Given the description of an element on the screen output the (x, y) to click on. 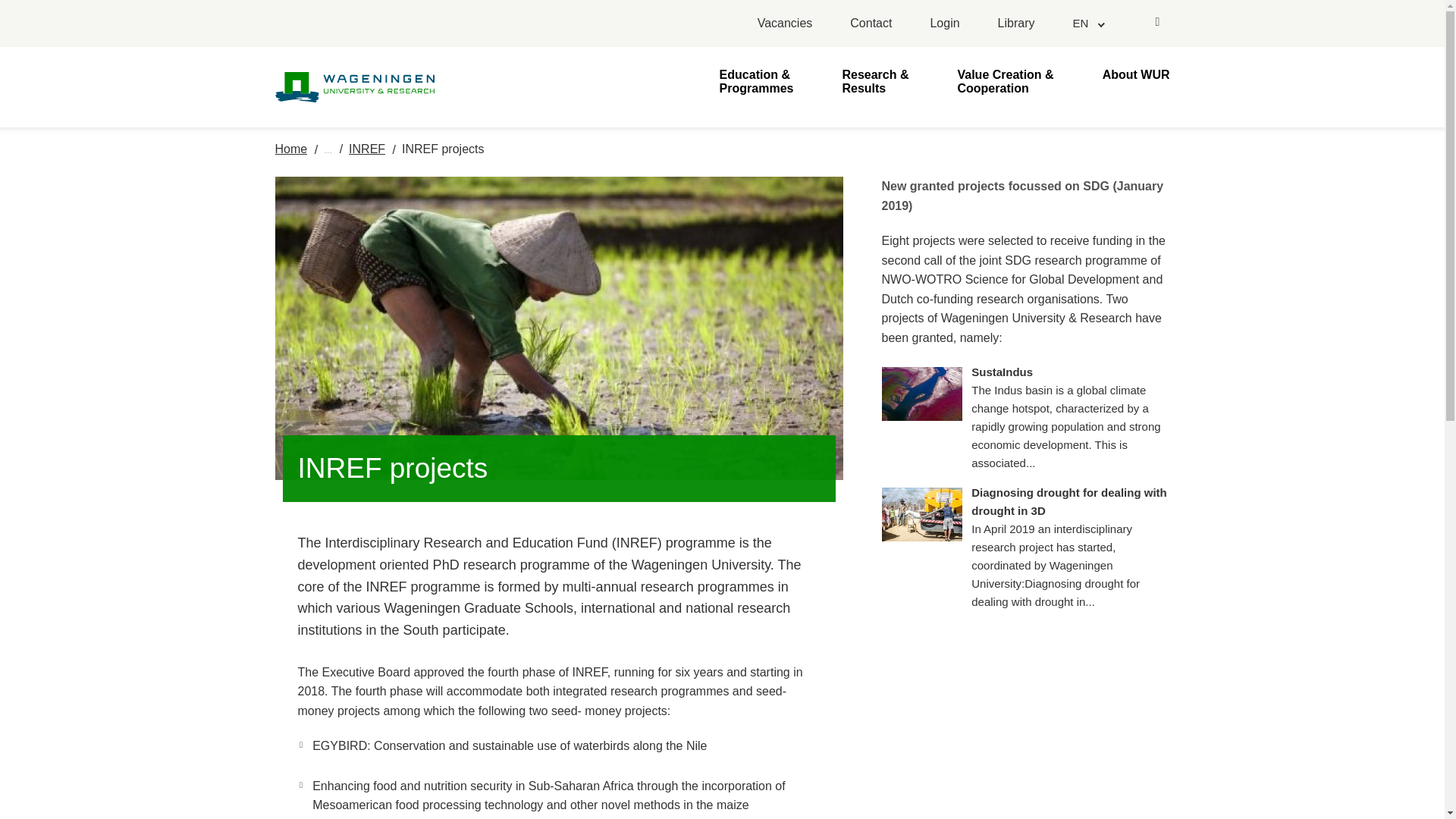
Contact (870, 23)
SustaIndus (1070, 417)
Library (1016, 23)
INREF (367, 149)
Login (944, 23)
Library (1016, 23)
Contact (870, 23)
Home (291, 149)
Home (291, 149)
Vacancies (784, 23)
About WUR (1136, 79)
Login (944, 23)
INREF (367, 149)
